Given the description of an element on the screen output the (x, y) to click on. 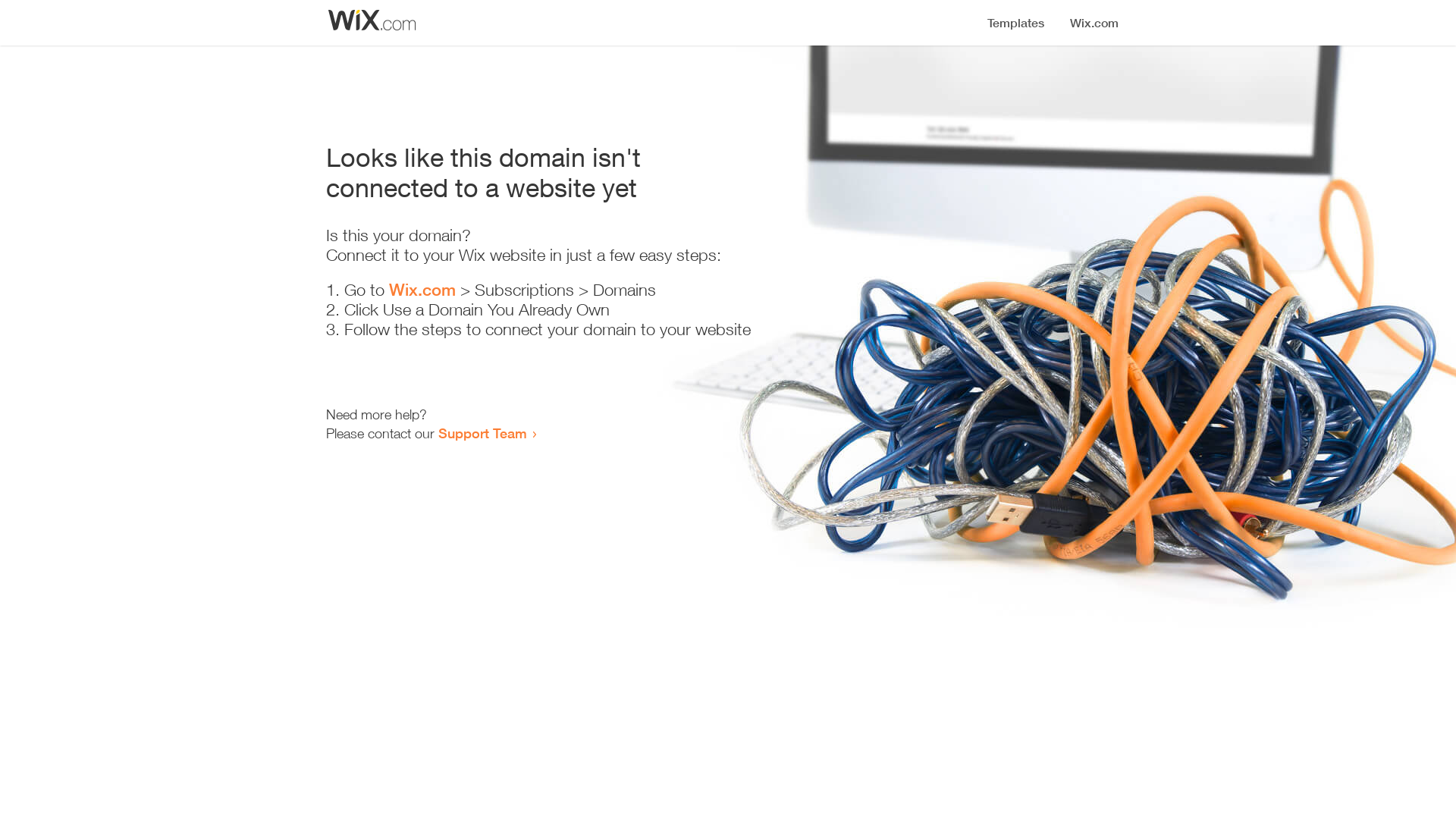
Wix.com Element type: text (422, 289)
Support Team Element type: text (482, 432)
